Given the description of an element on the screen output the (x, y) to click on. 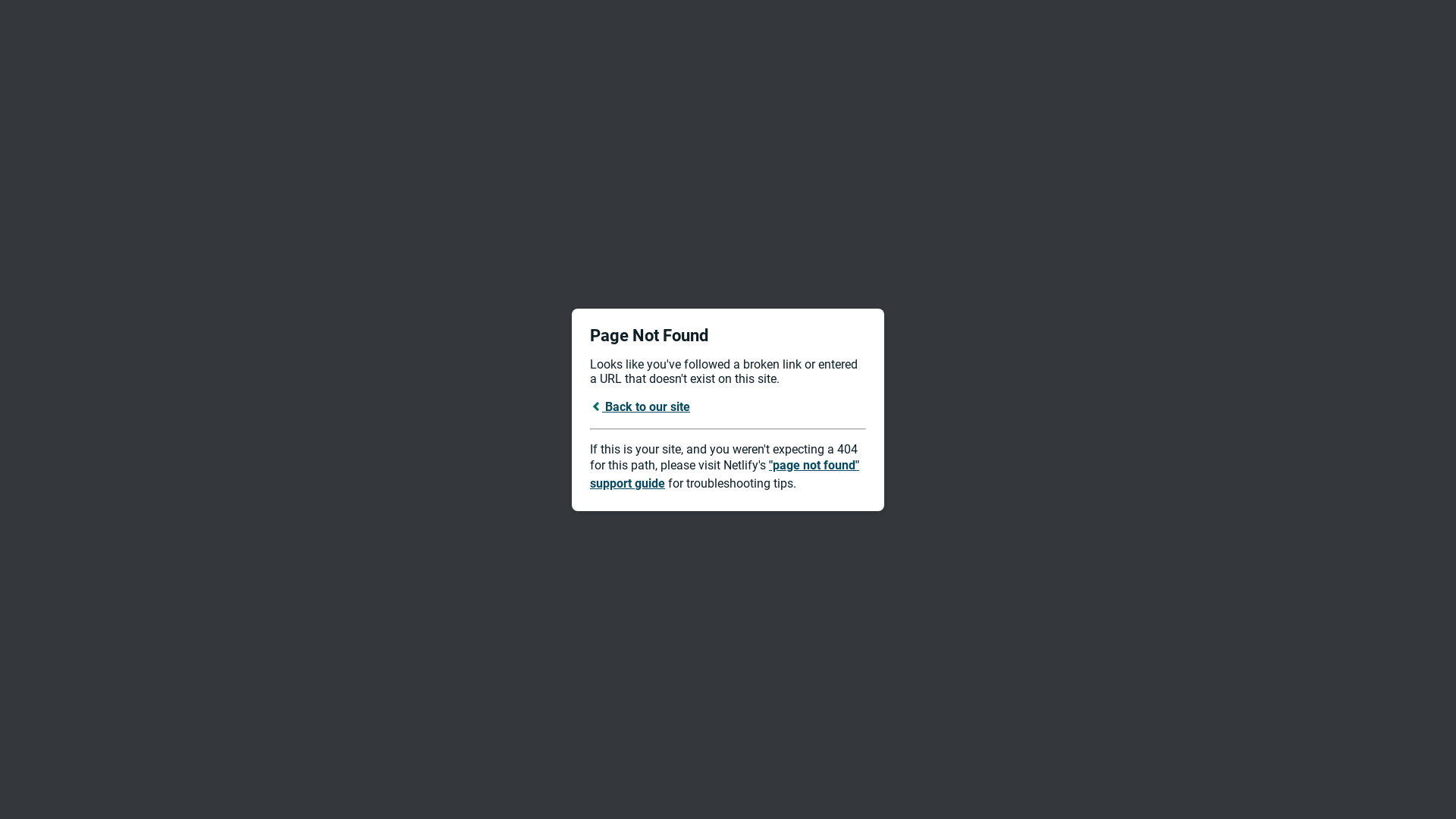
Back to our site Element type: text (639, 405)
"page not found" support guide Element type: text (724, 474)
